Given the description of an element on the screen output the (x, y) to click on. 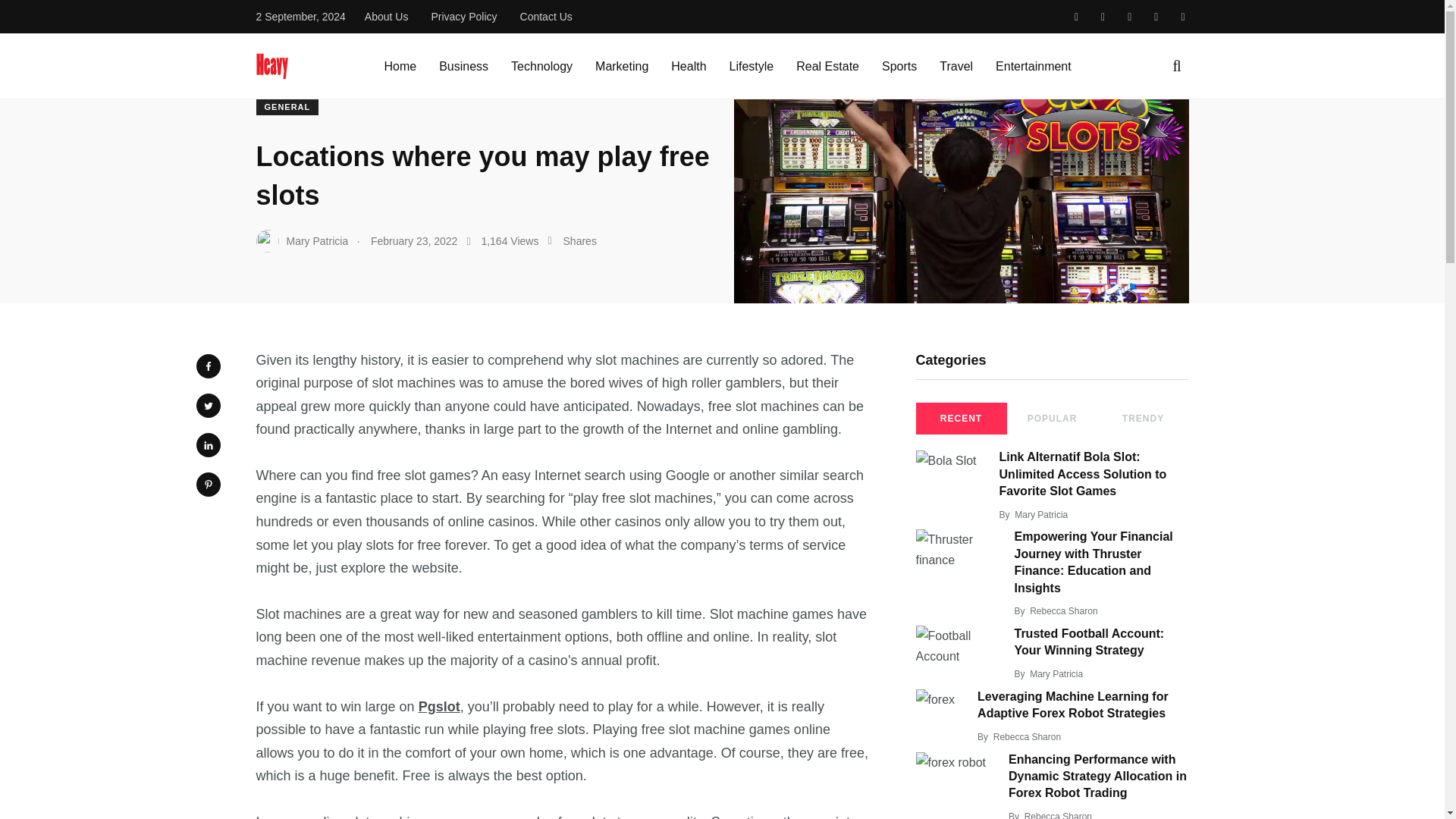
Health (688, 66)
About Us (387, 16)
Mary Patricia (302, 241)
Contact Us (545, 16)
Pgslot (439, 706)
Privacy Policy (463, 16)
GENERAL (287, 106)
Posts by Mary Patricia (1040, 514)
Technology (541, 66)
Real Estate (827, 66)
